Given the description of an element on the screen output the (x, y) to click on. 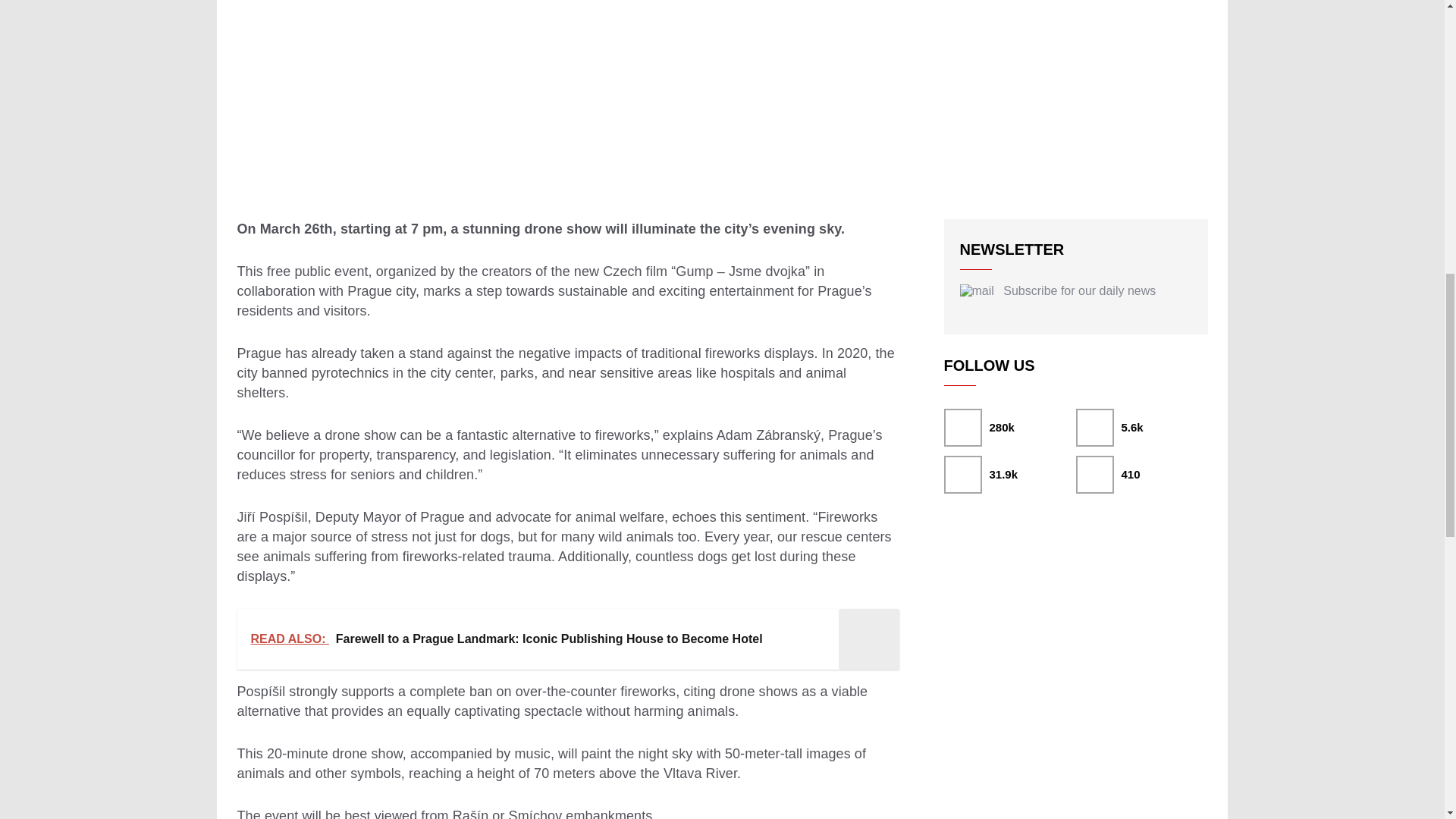
Whatsapp (1141, 474)
Facebook (1009, 427)
Instagram (1009, 474)
